Given the description of an element on the screen output the (x, y) to click on. 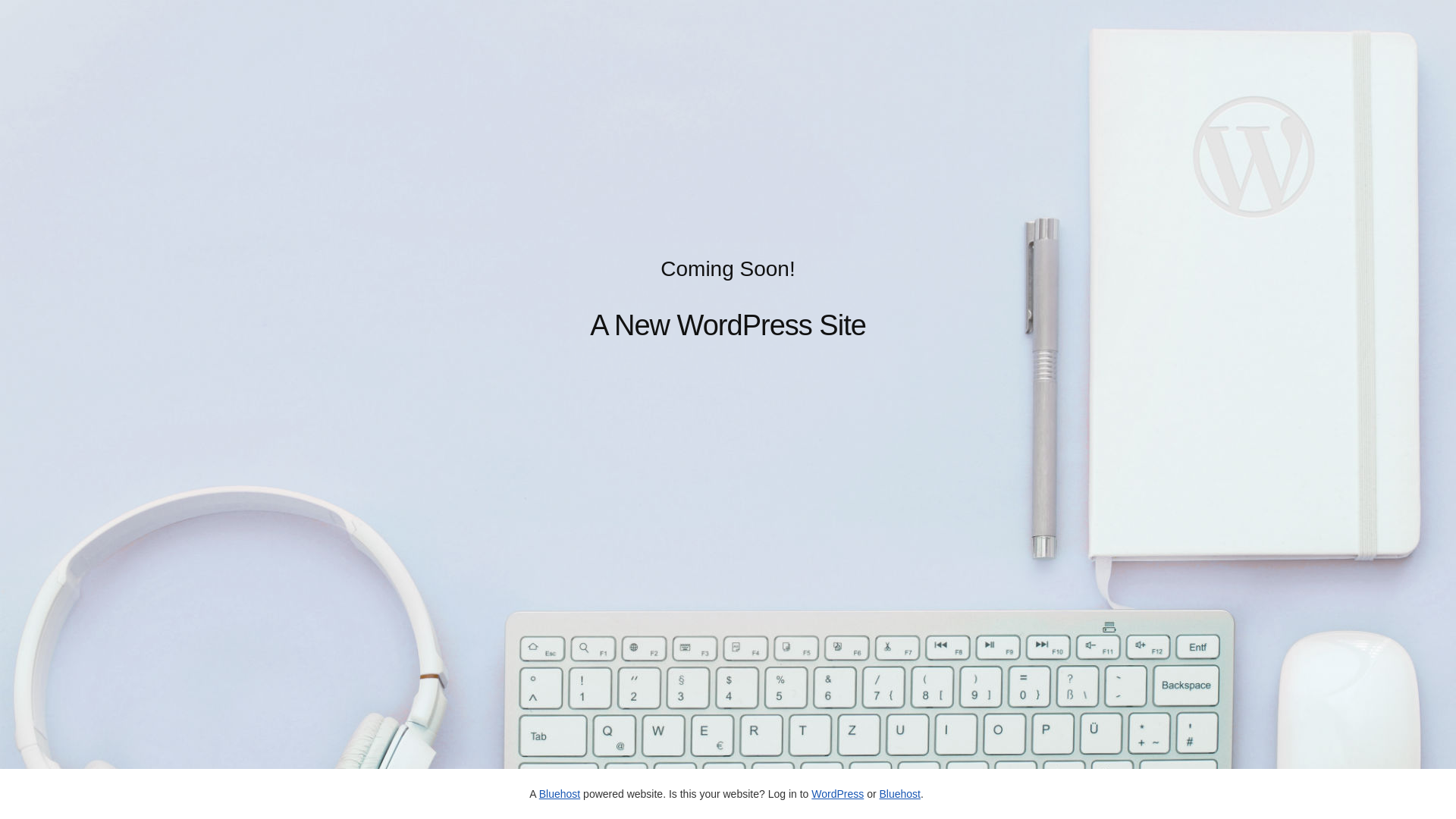
Bluehost Element type: text (898, 793)
WordPress Element type: text (837, 793)
Bluehost Element type: text (559, 793)
